Given the description of an element on the screen output the (x, y) to click on. 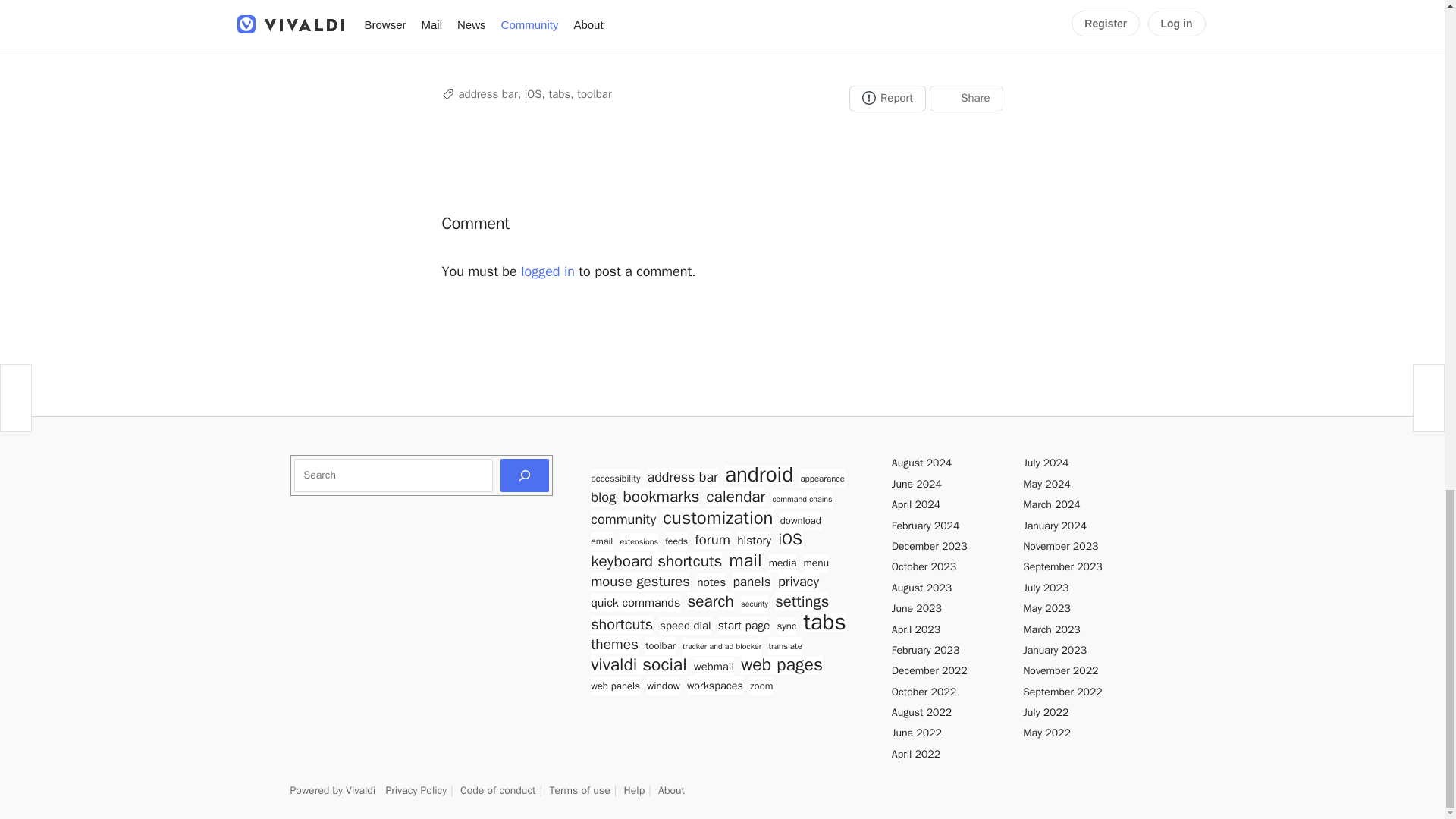
tabs (559, 93)
Configurable Address Bar on iPhone and iPad (722, 21)
address bar (487, 93)
iOS (532, 93)
toolbar (593, 93)
Report (887, 98)
Share (966, 98)
